Given the description of an element on the screen output the (x, y) to click on. 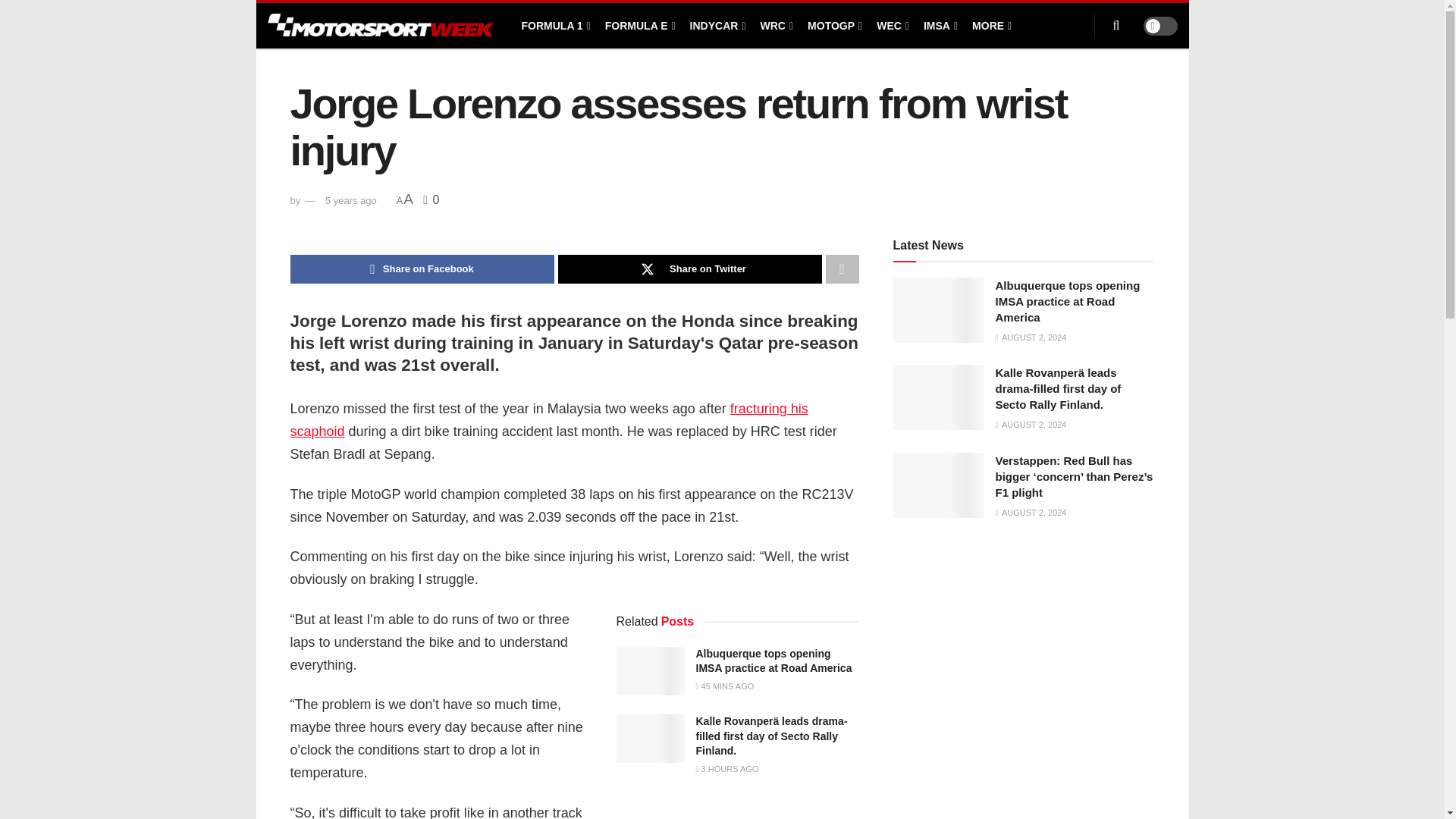
FORMULA 1 (554, 25)
WRC (776, 25)
WEC (891, 25)
MOTOGP (834, 25)
FORMULA E (638, 25)
MORE (990, 25)
INDYCAR (717, 25)
IMSA (939, 25)
